Given the description of an element on the screen output the (x, y) to click on. 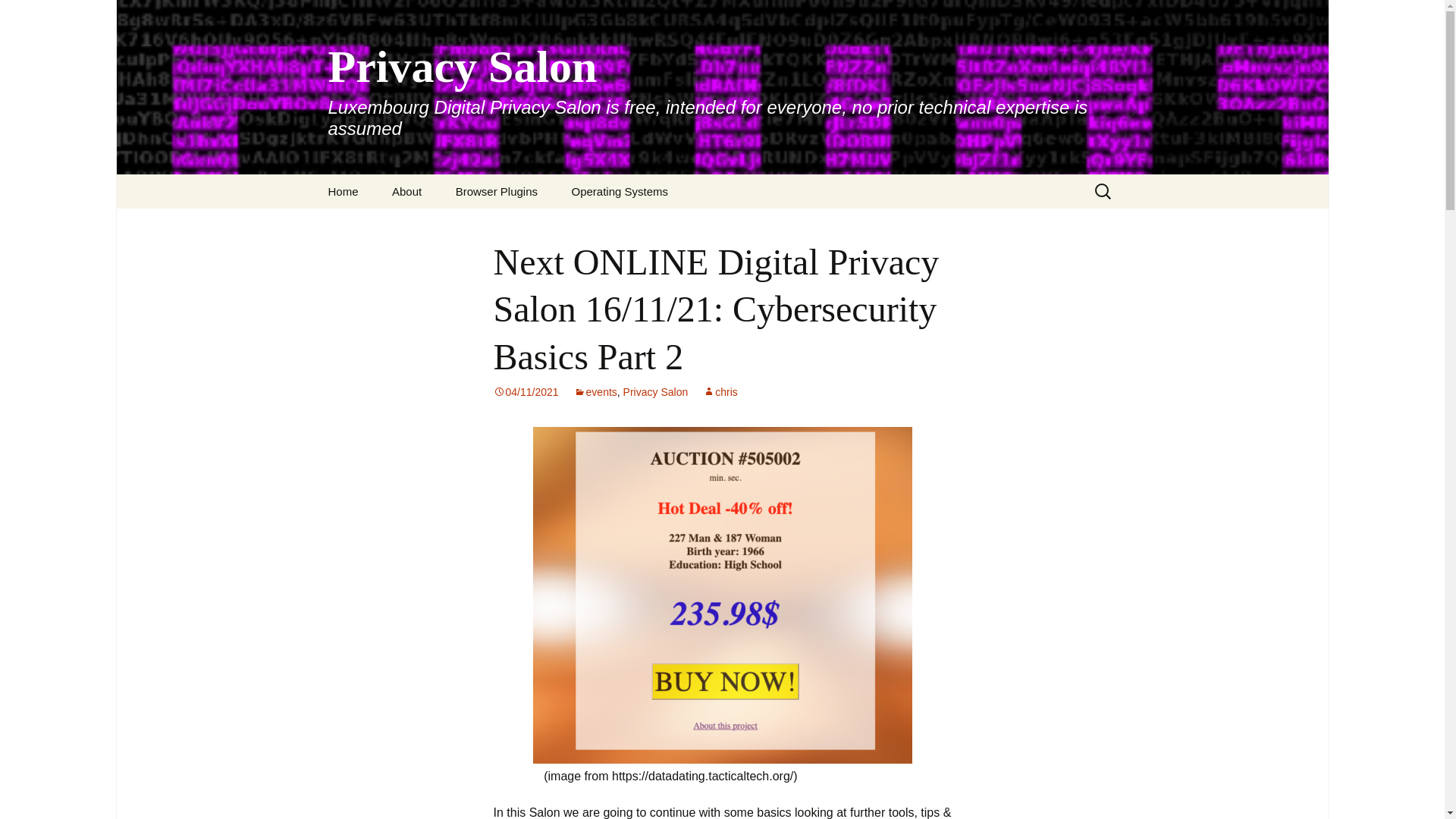
Search (34, 15)
Privacy Salon (655, 391)
View all posts by chris (720, 391)
chris (720, 391)
events (595, 391)
About (406, 191)
Search (18, 15)
Operating Systems (619, 191)
Home (342, 191)
Browser Plugins (497, 191)
